Given the description of an element on the screen output the (x, y) to click on. 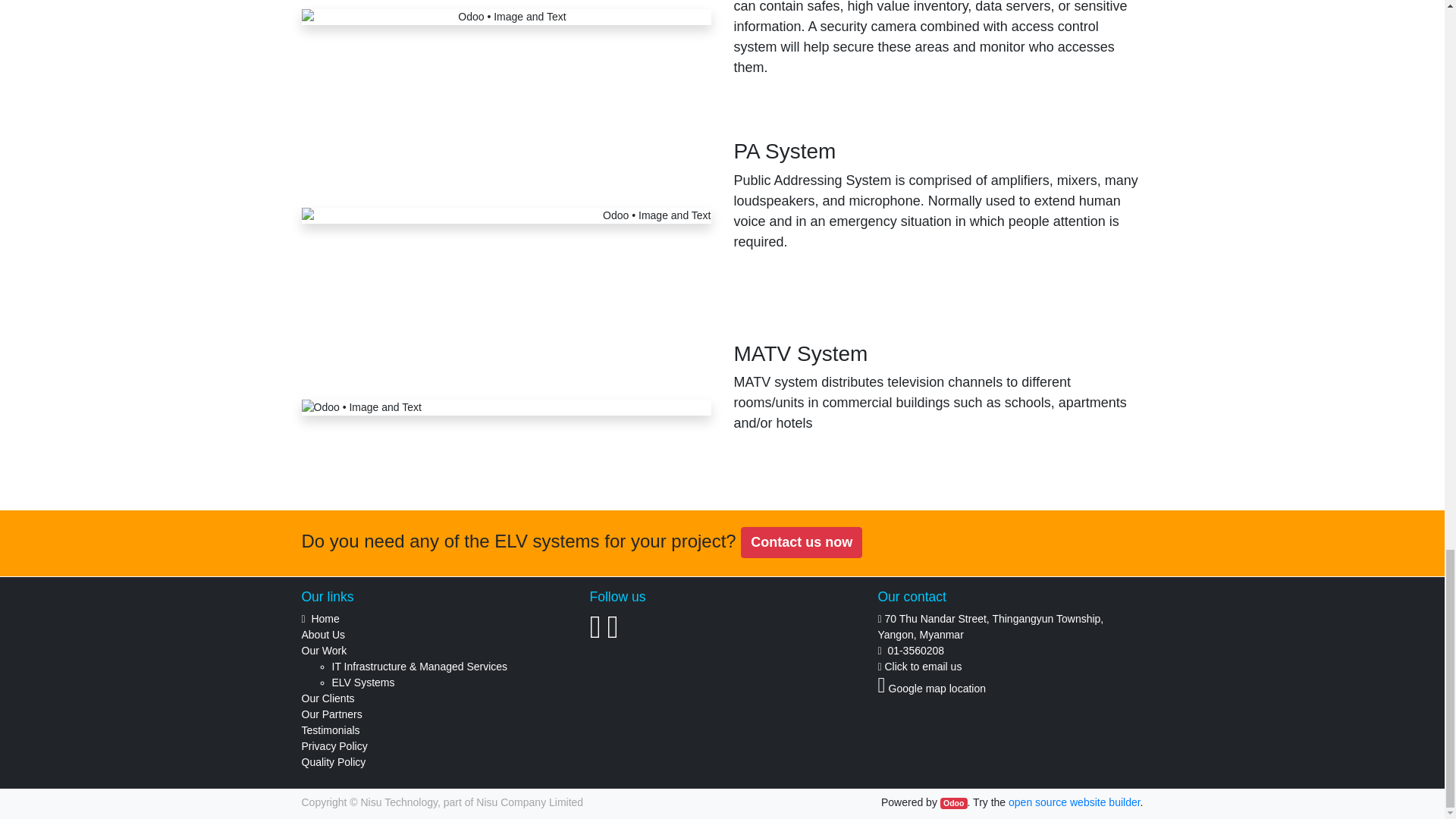
open source website builder (1074, 802)
Testimonials (330, 729)
About Us (323, 634)
Odoo (954, 803)
Home (325, 618)
Privacy Policy (334, 746)
Our Partners (331, 714)
ELV Systems (362, 682)
Click to email us (921, 666)
Contact us now (801, 542)
